Given the description of an element on the screen output the (x, y) to click on. 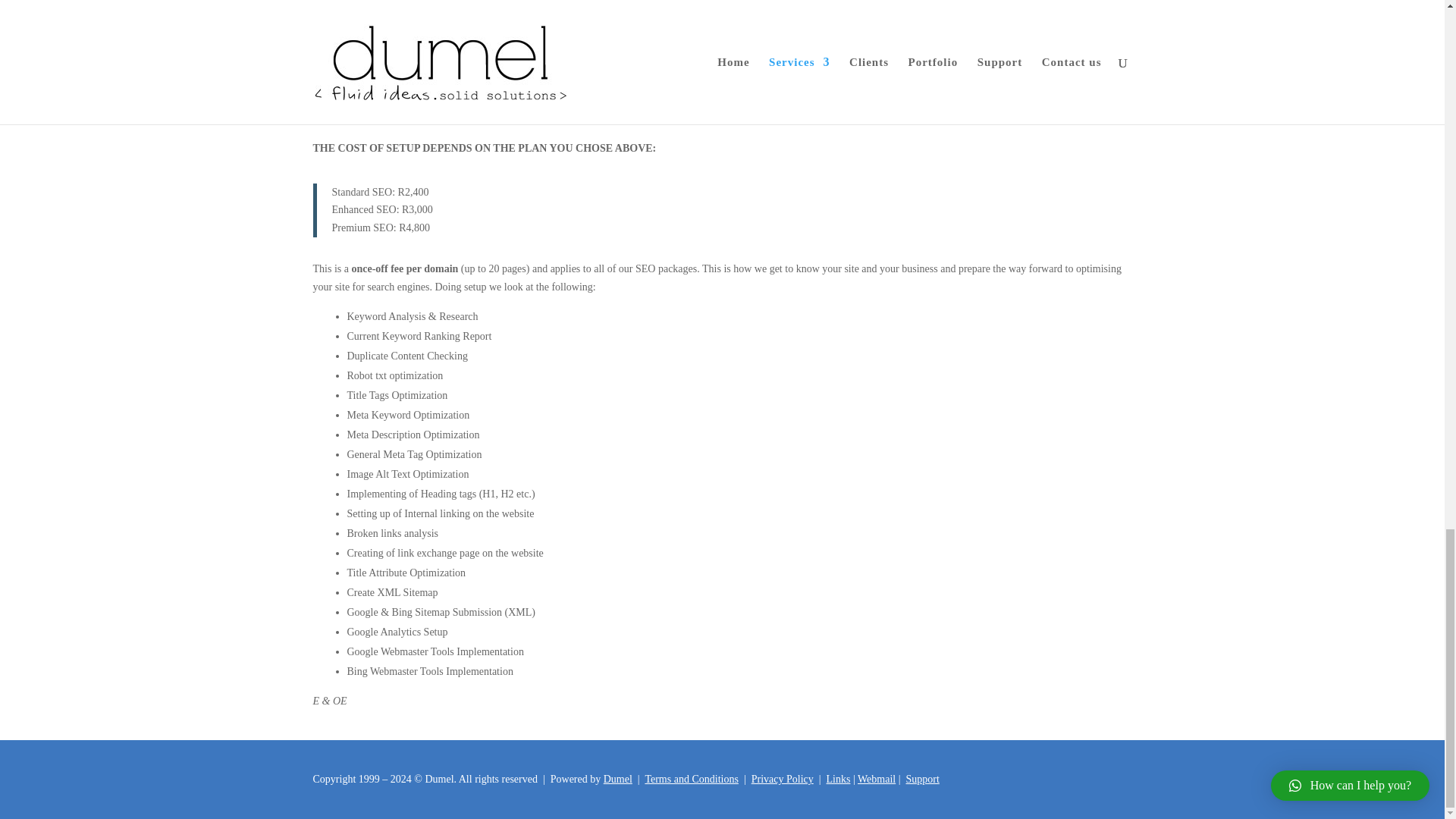
Links (838, 778)
Privacy Policy (782, 778)
Webmail (876, 778)
Dumel (617, 778)
Terms and Conditions (691, 778)
Find out more (449, 1)
